Given the description of an element on the screen output the (x, y) to click on. 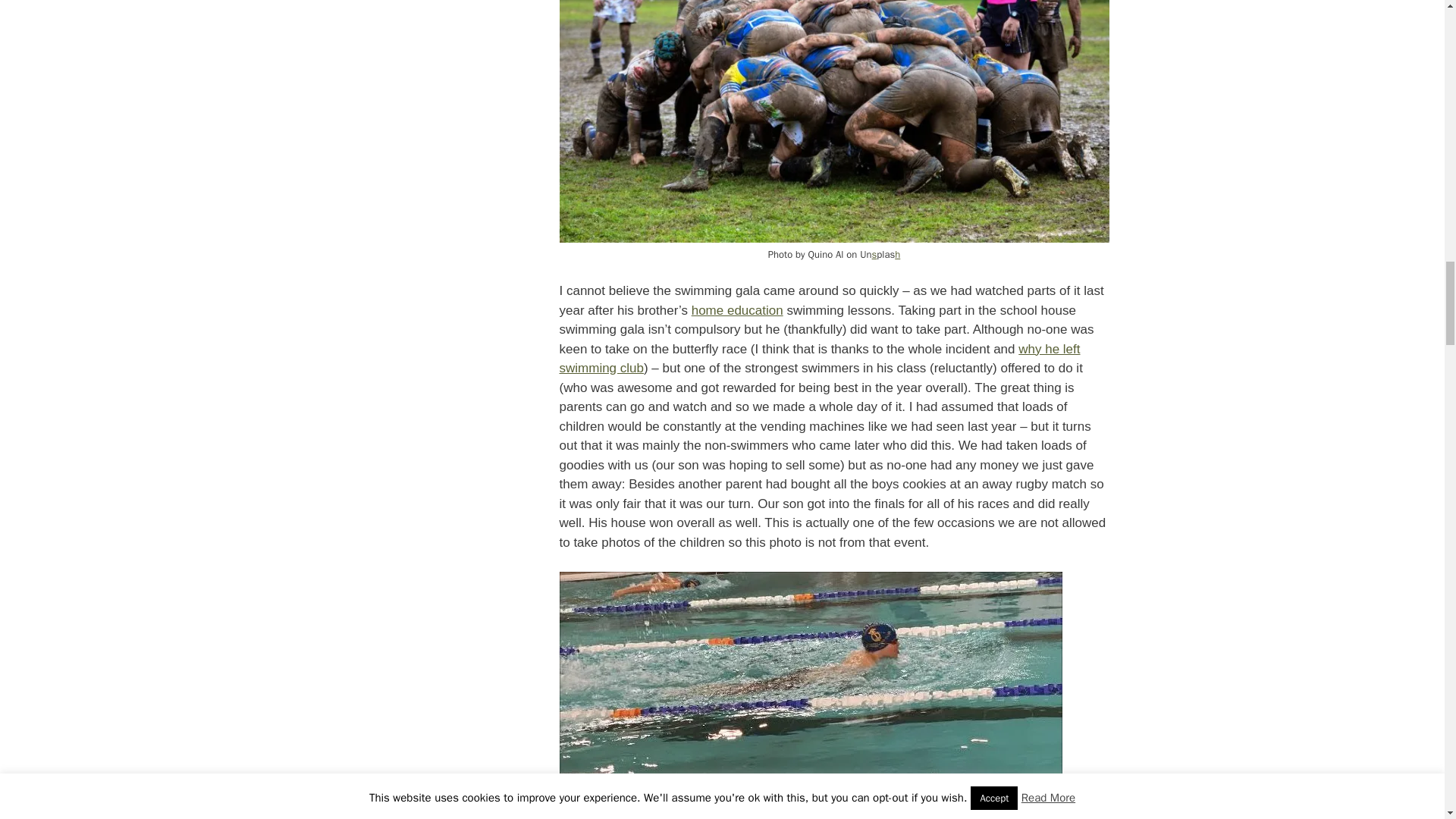
home education (737, 310)
s (874, 254)
h (897, 254)
why he left swimming club (819, 358)
